Given the description of an element on the screen output the (x, y) to click on. 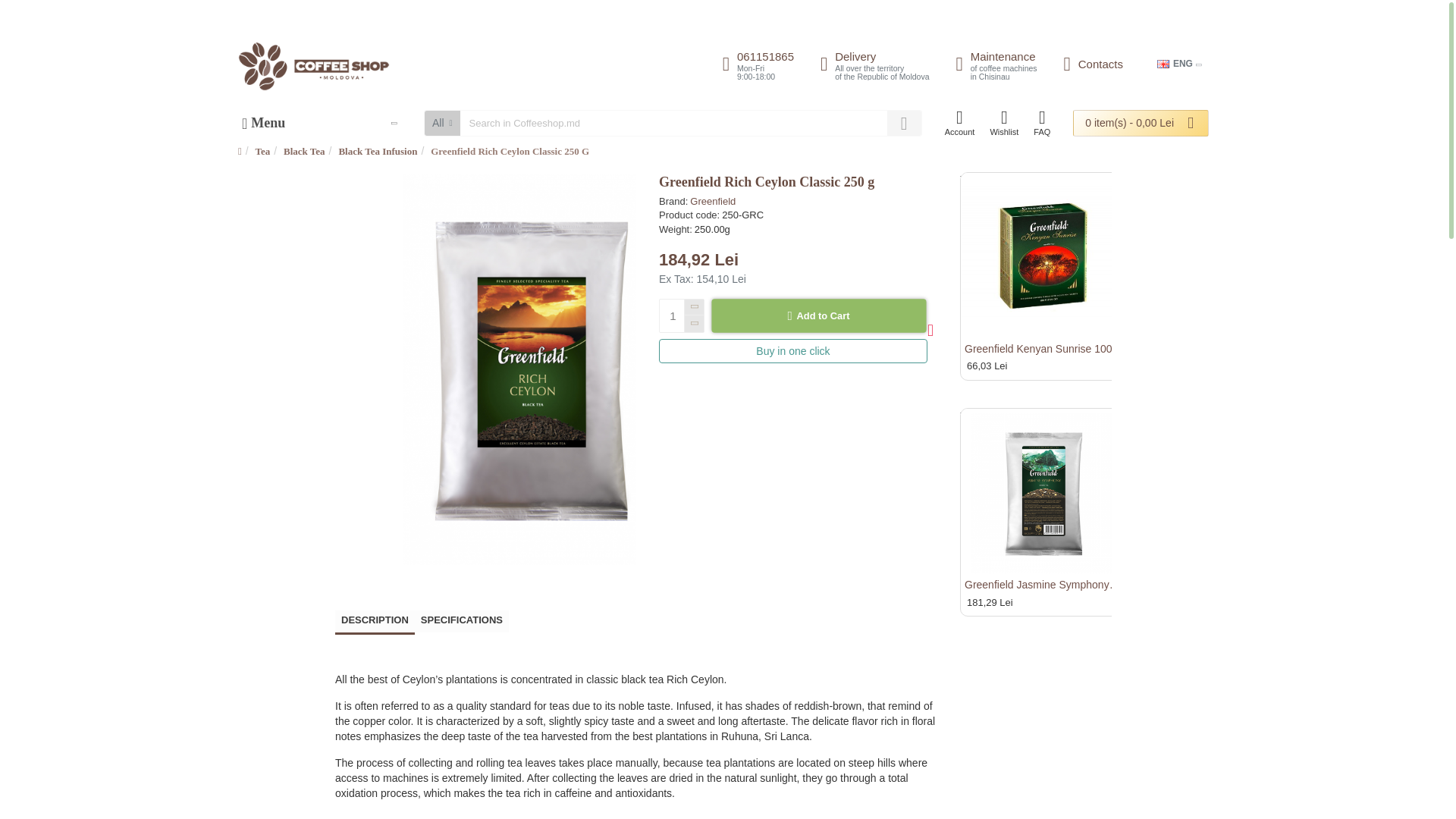
Contacts (1087, 63)
1 (681, 315)
Coffeeshop.md - Livrare Cafea Moldova (869, 64)
Greenfield Jasmine Symphony 250 g (314, 65)
Greenfield Kenyan Sunrise 100g (1042, 491)
Menu (1042, 255)
ENG (990, 64)
Greenfield Rich Ceylon Classic 250 g (321, 122)
ENG (752, 64)
